Given the description of an element on the screen output the (x, y) to click on. 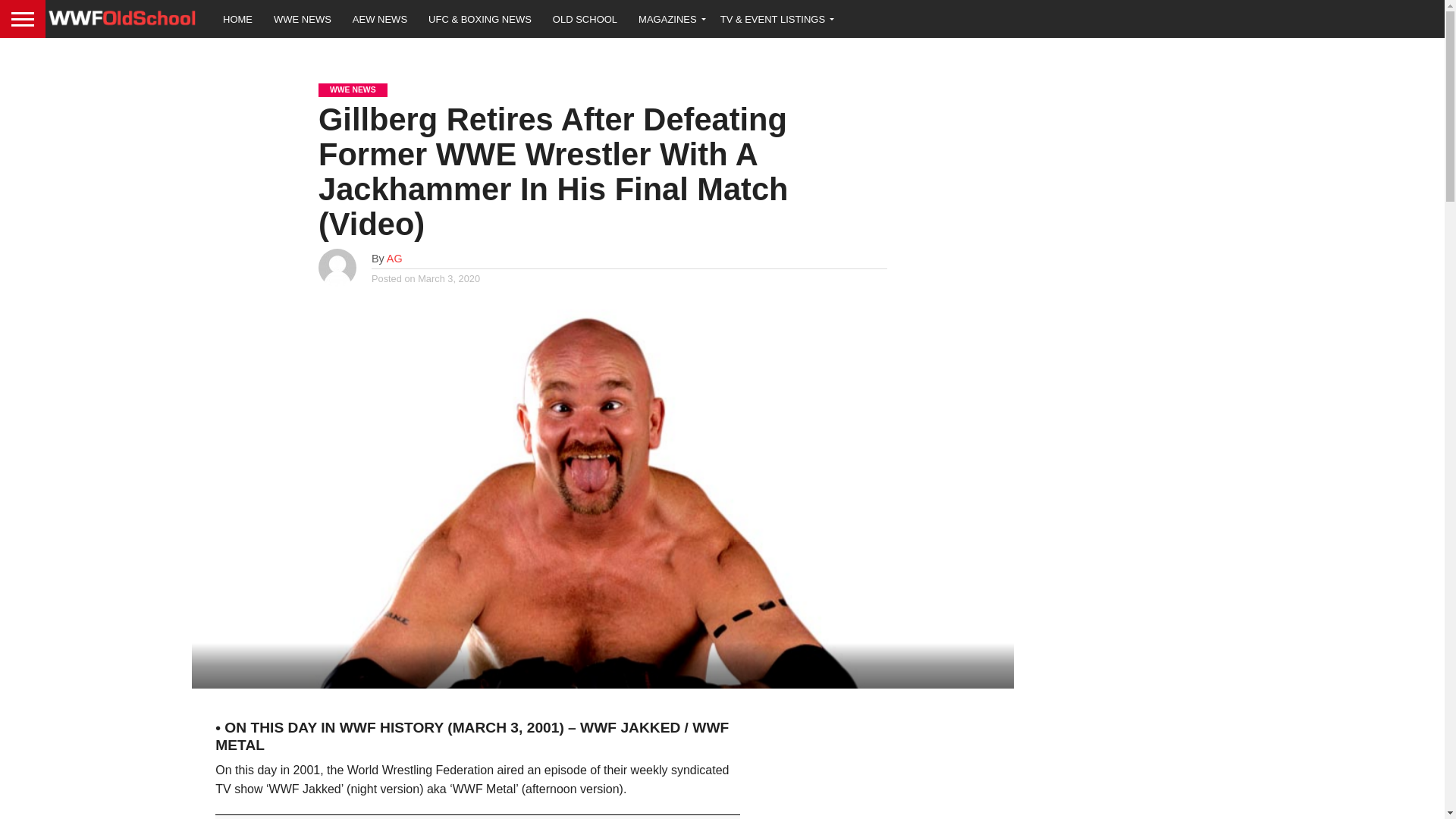
HOME (237, 18)
OLD SCHOOL (584, 18)
WWE NEWS (302, 18)
Posts by AG (395, 258)
AEW NEWS (379, 18)
MAGAZINES (668, 18)
